Given the description of an element on the screen output the (x, y) to click on. 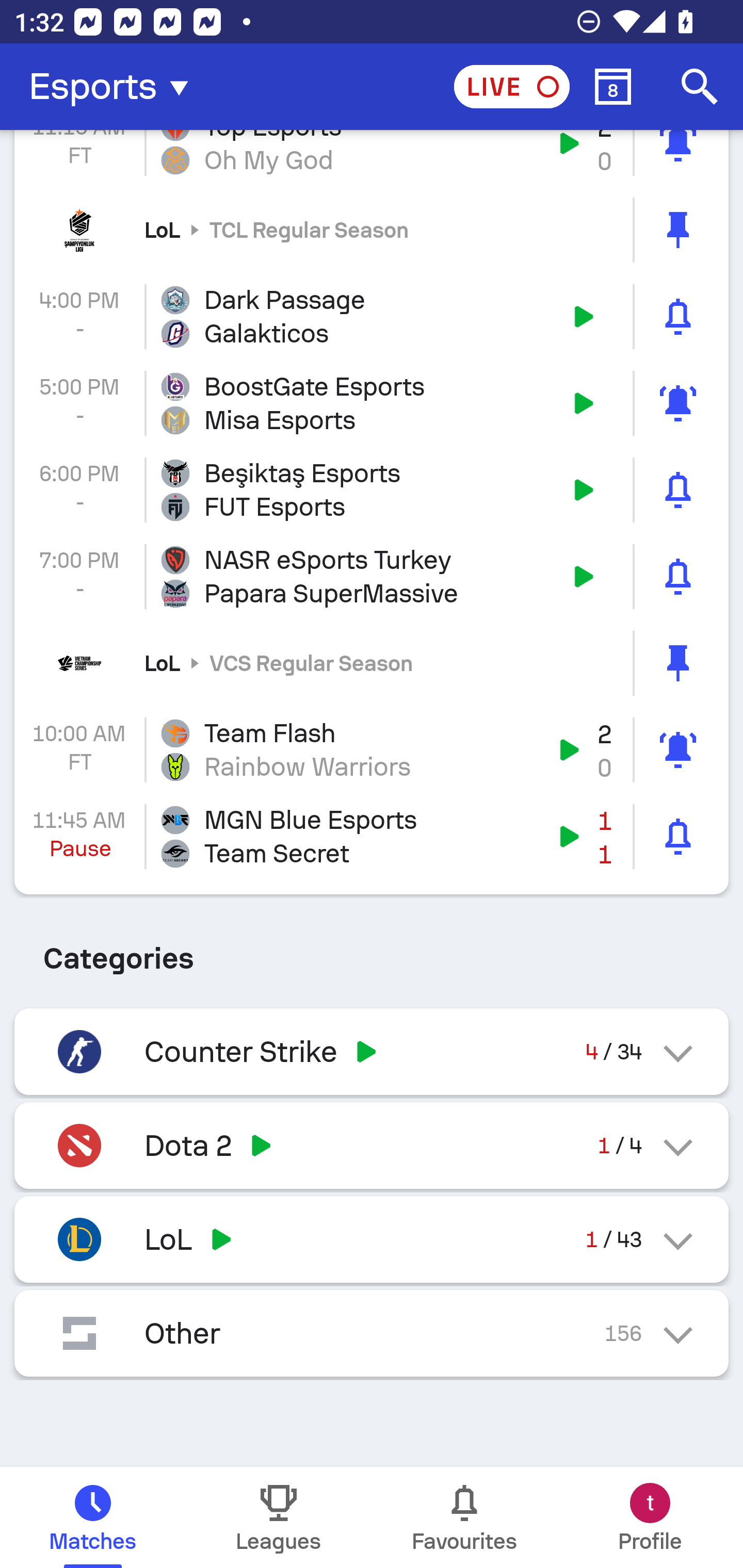
Esports (114, 86)
Calendar (612, 86)
Search (699, 86)
LoL TCL Regular Season (371, 229)
4:00 PM - Dark Passage Galakticos (371, 316)
5:00 PM - BoostGate Esports Misa Esports (371, 403)
6:00 PM - Beşiktaş Esports FUT Esports (371, 489)
7:00 PM - NASR eSports Turkey Papara SuperMassive (371, 576)
LoL VCS Regular Season (371, 663)
10:00 AM FT Team Flash Rainbow Warriors 2 0 (371, 750)
11:45 AM Pause MGN Blue Esports Team Secret 1 1 (371, 836)
Categories (371, 951)
Counter Strike 4 / 34 (371, 1051)
Dota 2 1 / 4 (371, 1145)
LoL 1 / 43 (371, 1239)
Other 156 (371, 1333)
Leagues (278, 1517)
Favourites (464, 1517)
Profile (650, 1517)
